Given the description of an element on the screen output the (x, y) to click on. 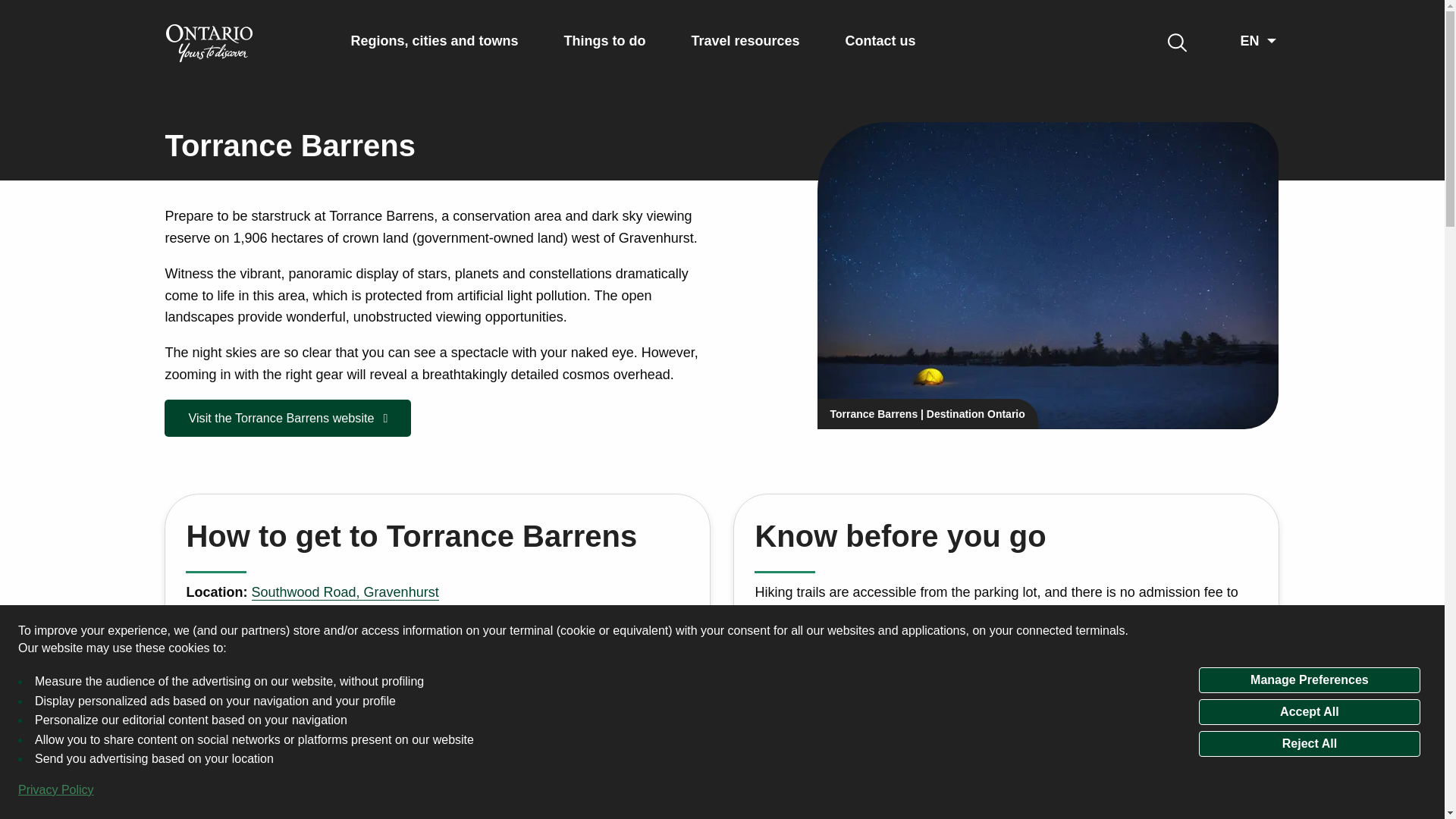
Reject All (1309, 743)
Regions, cities and towns (434, 40)
Accept All (1309, 711)
Privacy Policy (55, 789)
Things to do (605, 40)
Manage Preferences (1309, 679)
